Given the description of an element on the screen output the (x, y) to click on. 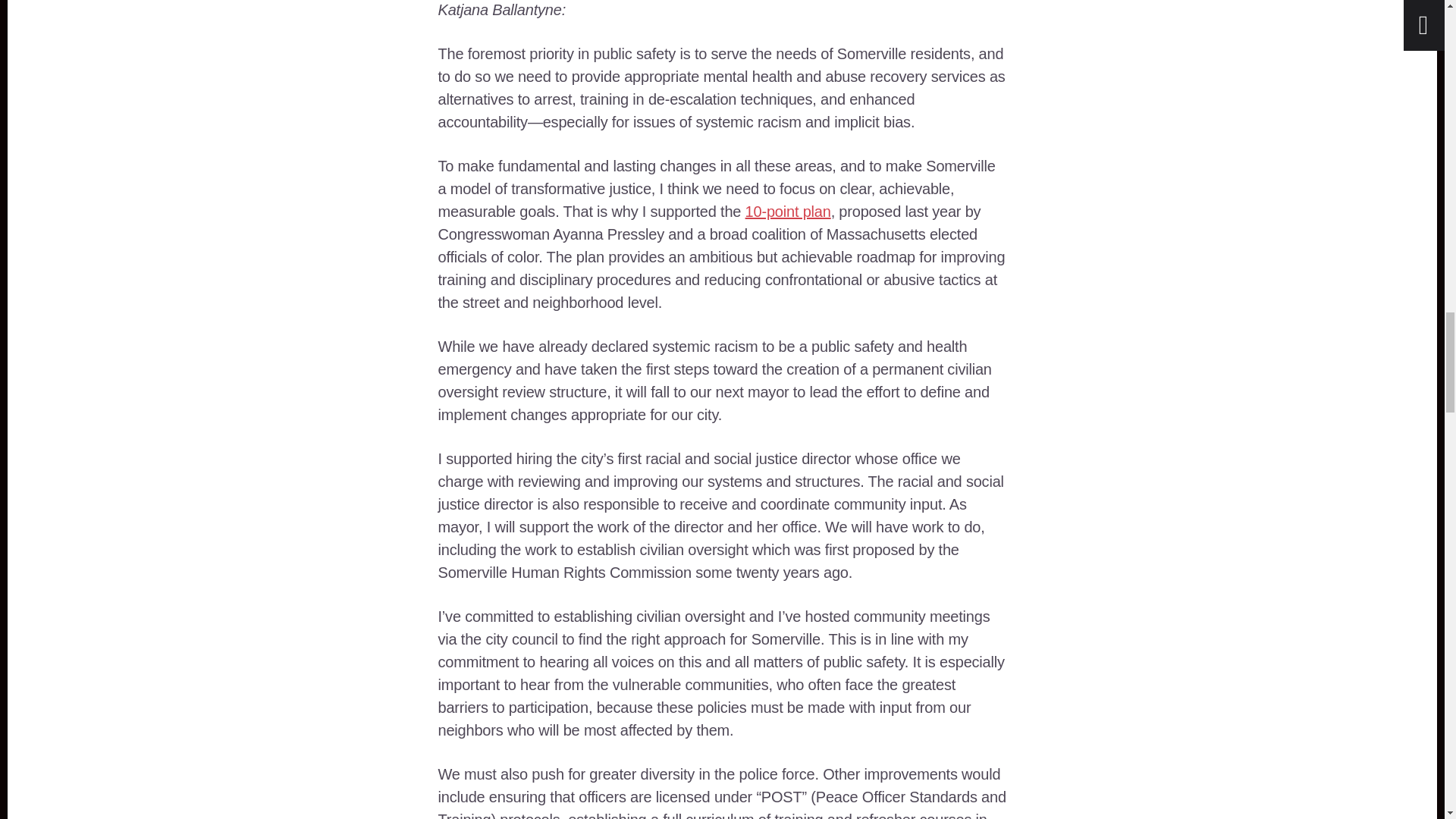
10-point plan (788, 211)
